Given the description of an element on the screen output the (x, y) to click on. 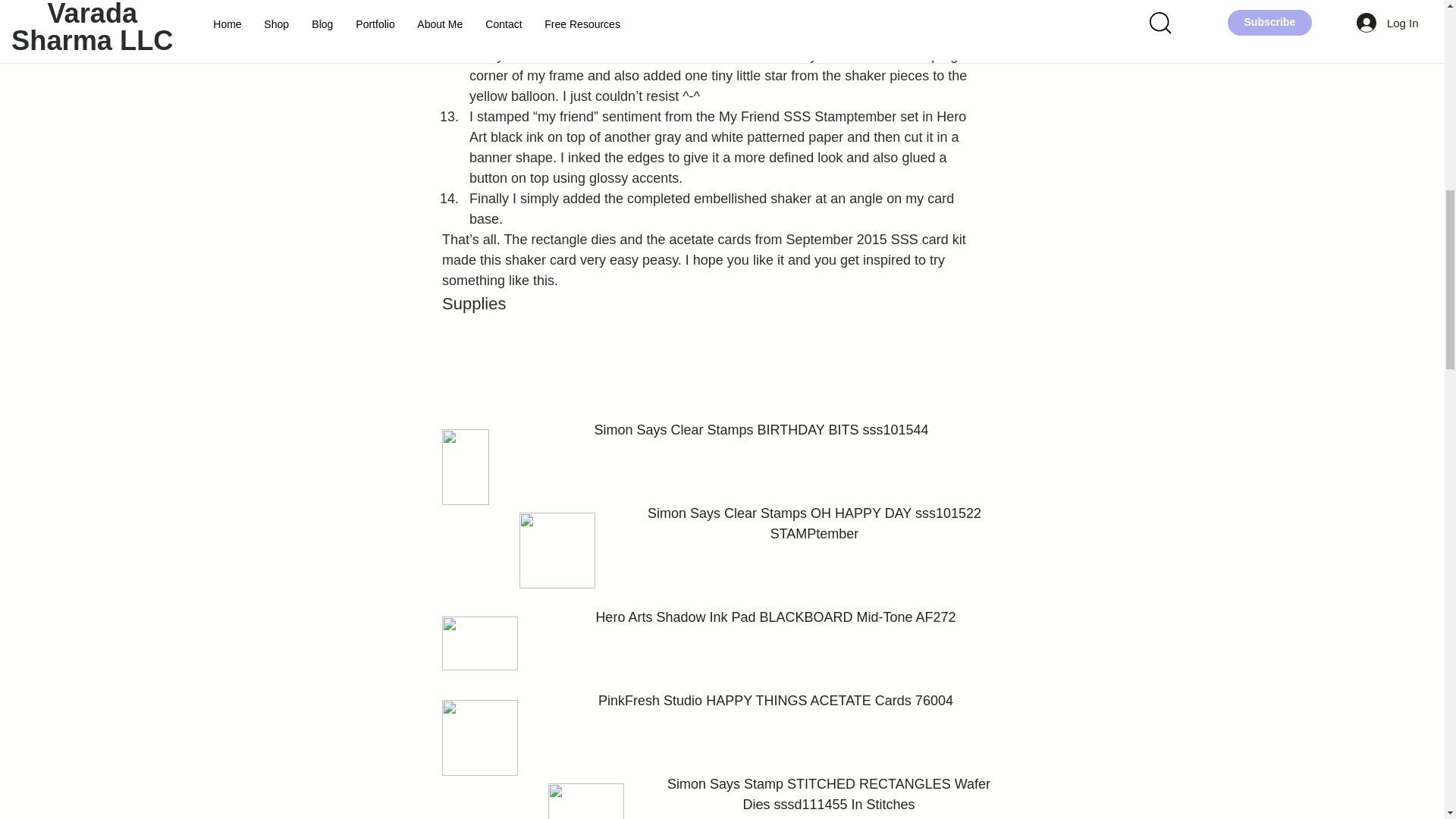
Simon Says Clear Stamps BIRTHDAY BITS sss101544 (761, 429)
PinkFresh Studio HAPPY THINGS ACETATE Cards 76004 (775, 700)
Simon Says Clear Stamps OH HAPPY DAY sss101522 STAMPtember (815, 523)
Hero Arts Shadow Ink Pad BLACKBOARD Mid-Tone AF272 (775, 616)
